Given the description of an element on the screen output the (x, y) to click on. 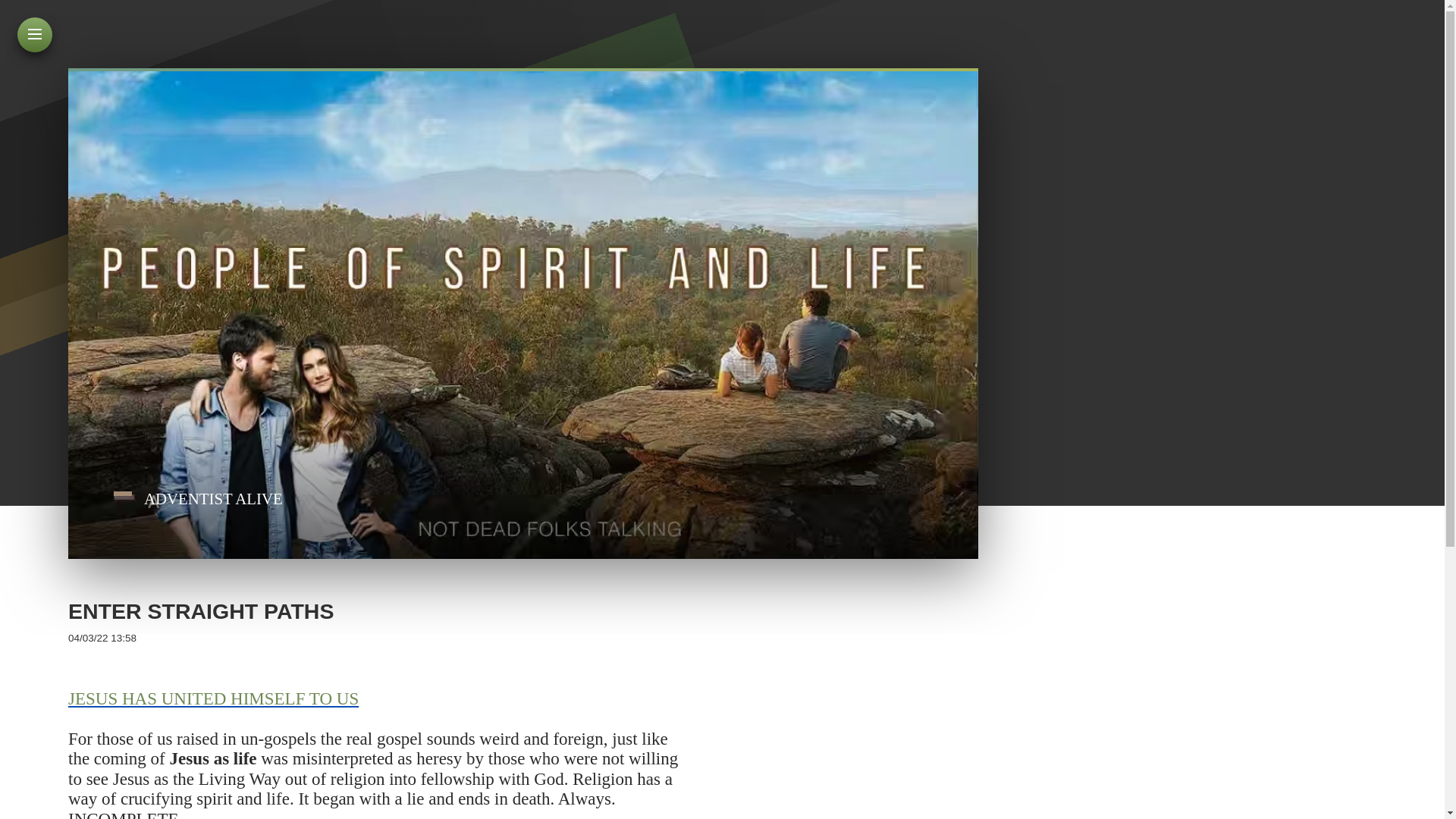
JESUS HAS UNITED HIMSELF TO US (213, 698)
